Given the description of an element on the screen output the (x, y) to click on. 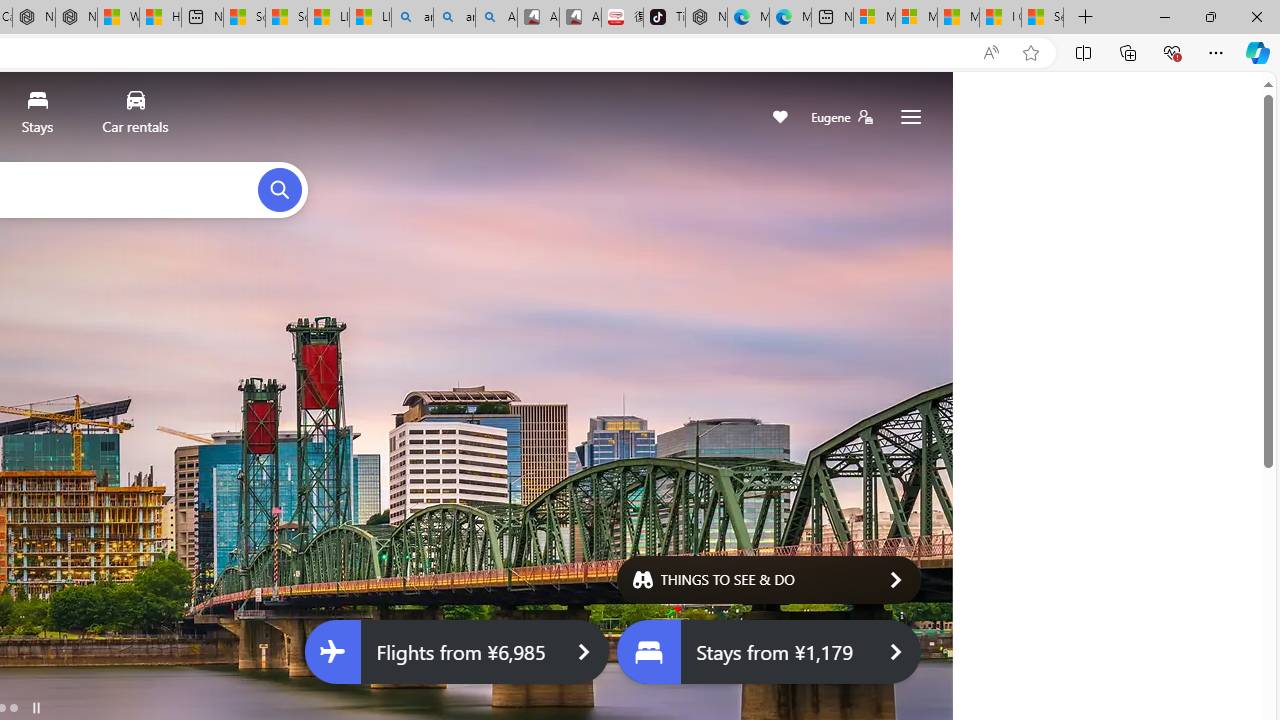
THINGS TO SEE & DO (768, 579)
New Tab (1085, 17)
Read aloud this page (Ctrl+Shift+U) (991, 53)
Nordace - Summer Adventures 2024 (76, 17)
Search (279, 189)
Copilot (Ctrl+Shift+.) (1258, 52)
Restore (1210, 16)
Nordace - Best Sellers (706, 17)
Settings and more (Alt+F) (1215, 52)
Settings (910, 118)
All Cubot phones (580, 17)
Huge shark washes ashore at New York City beach | Watch (159, 17)
